Given the description of an element on the screen output the (x, y) to click on. 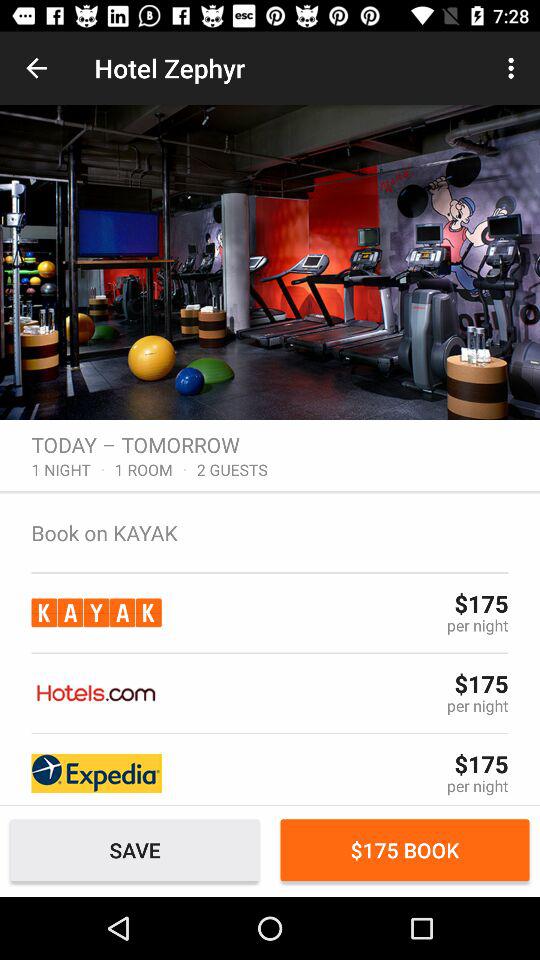
turn on item at the top right corner (513, 67)
